Given the description of an element on the screen output the (x, y) to click on. 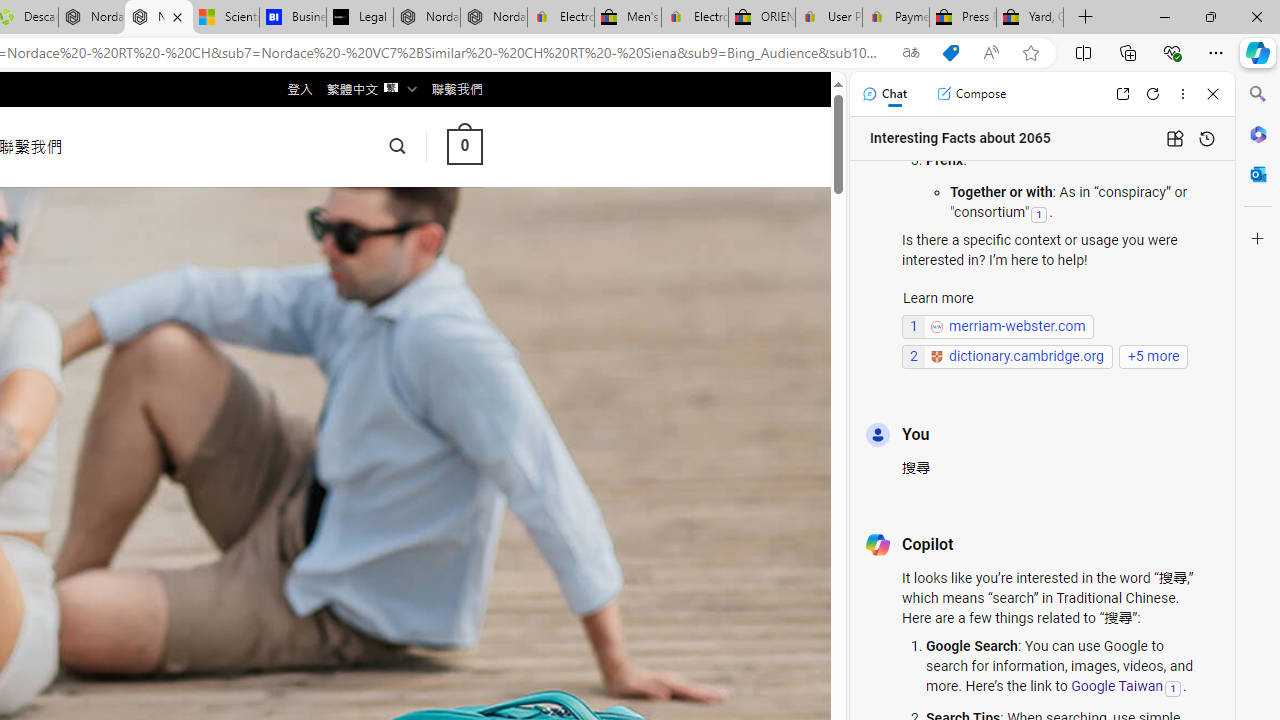
Minimize Search pane (1258, 94)
  0   (464, 146)
This site has coupons! Shopping in Microsoft Edge (950, 53)
 0  (464, 146)
